Given the description of an element on the screen output the (x, y) to click on. 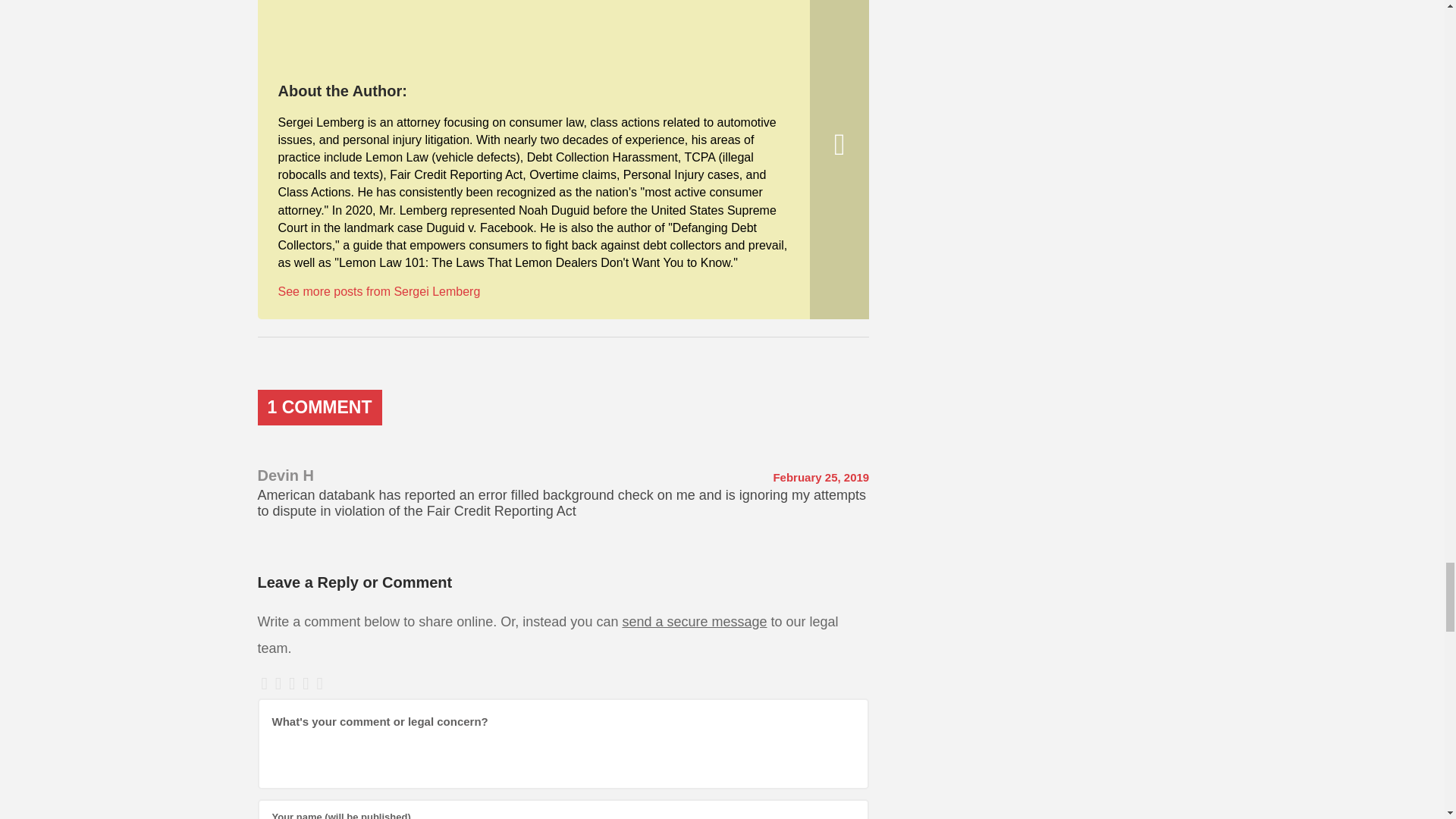
send a secure message (694, 621)
See more posts from Sergei Lemberg (379, 291)
